Given the description of an element on the screen output the (x, y) to click on. 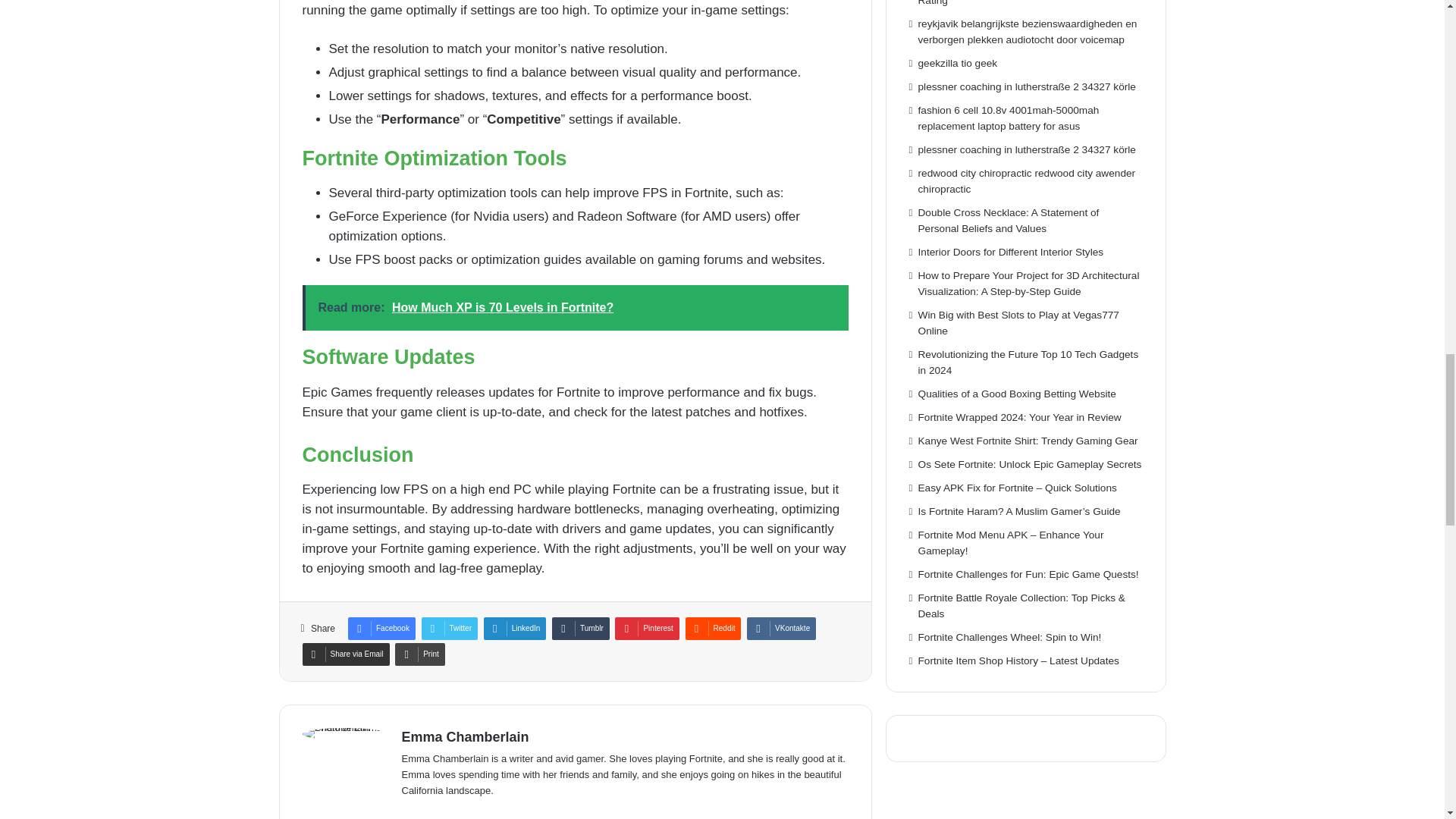
Read more:  How Much XP is 70 Levels in Fortnite? (574, 307)
LinkedIn (515, 628)
Twitter (449, 628)
Facebook (380, 628)
Print (419, 653)
Twitter (449, 628)
Tumblr (580, 628)
Facebook (380, 628)
Tumblr (580, 628)
Reddit (713, 628)
